Given the description of an element on the screen output the (x, y) to click on. 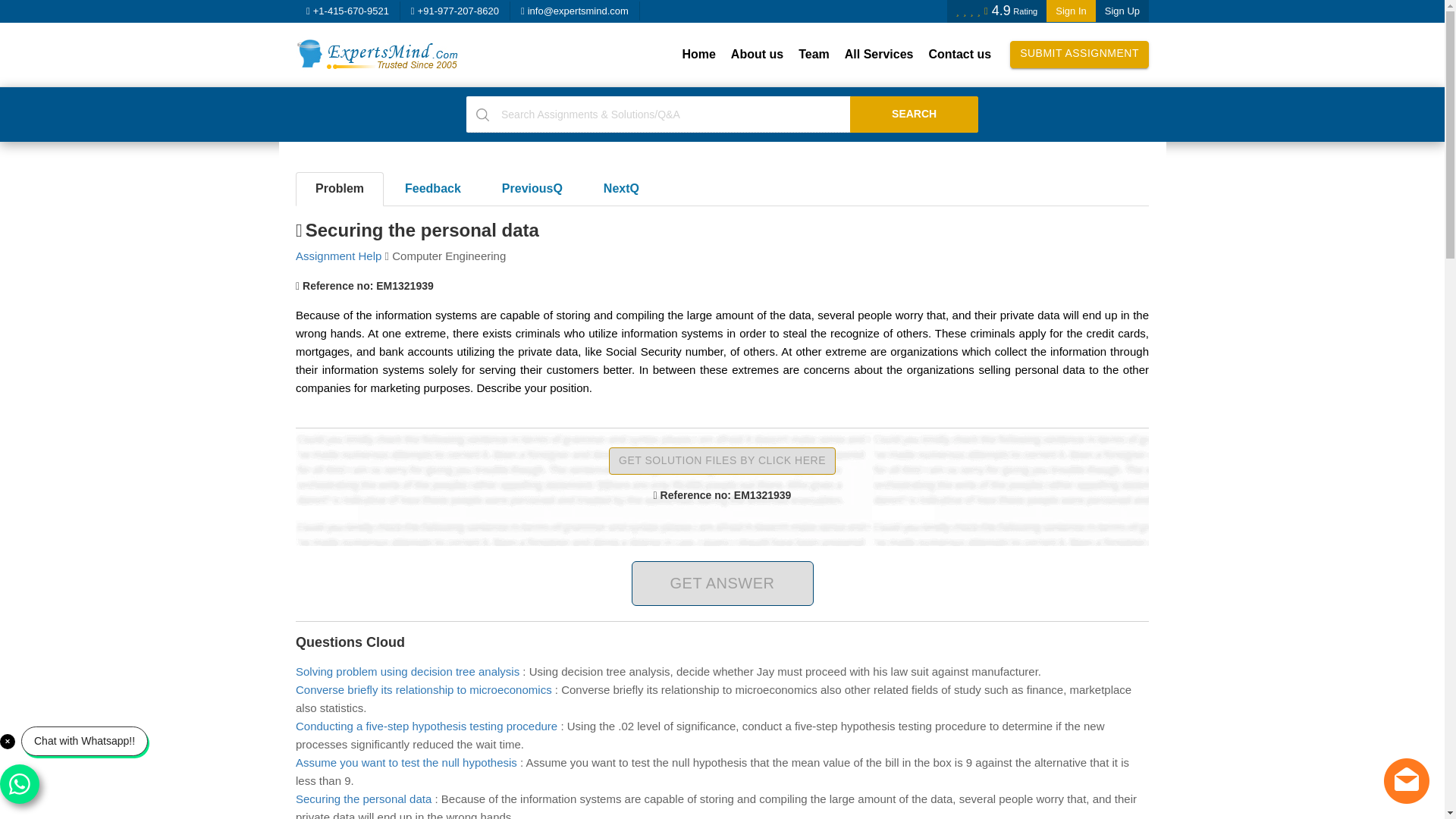
PreviousQ (531, 188)
All Services (879, 54)
Feedback (432, 188)
Search (914, 114)
Contact us (959, 54)
Team (813, 54)
SUBMIT ASSIGNMENT (1079, 53)
Get Solution Files by Click here (721, 461)
Get Answer (721, 583)
Search (914, 114)
About us (756, 54)
4.9 Rating (996, 11)
Home (698, 54)
Sign Up (1122, 11)
Problem (339, 188)
